Given the description of an element on the screen output the (x, y) to click on. 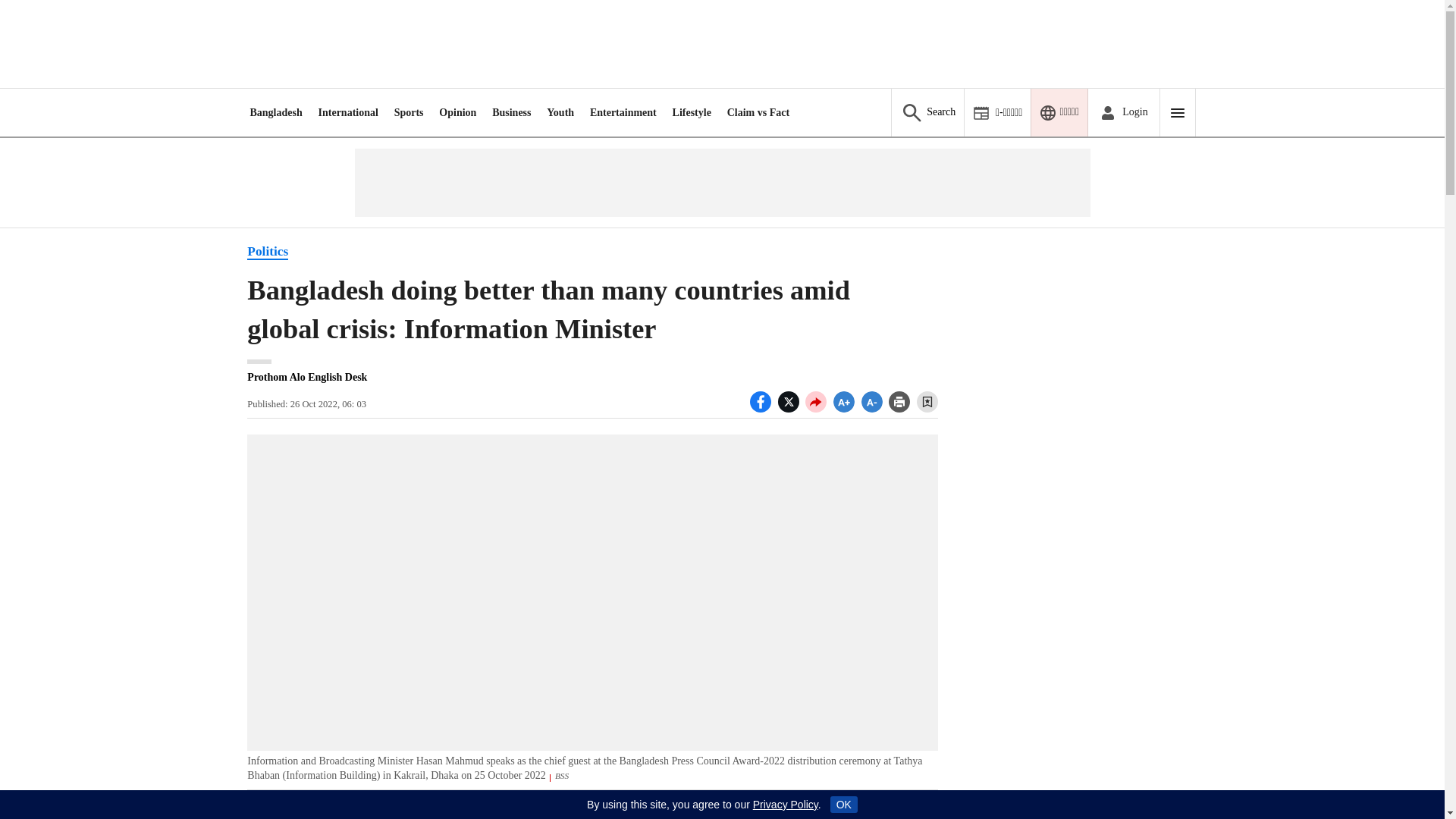
Claim vs Fact (757, 112)
Login (1122, 112)
Bangladesh (274, 112)
Search (926, 112)
Sports (408, 112)
Entertainment (622, 112)
Politics (267, 252)
Youth (560, 112)
Lifestyle (691, 112)
International (348, 112)
